Given the description of an element on the screen output the (x, y) to click on. 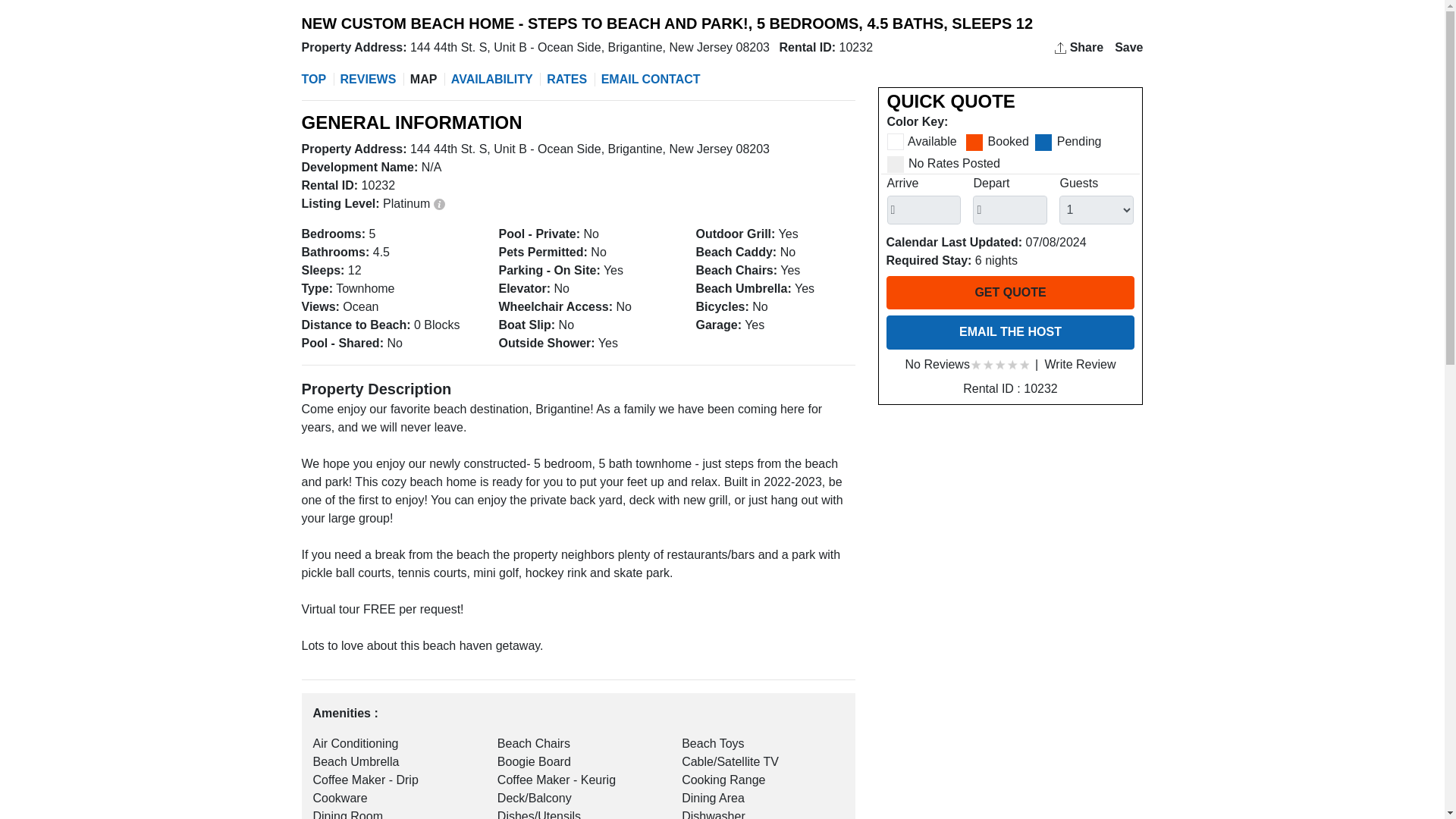
EMAIL THE HOST (1009, 331)
GET QUOTE (1009, 292)
RATES (565, 78)
AVAILABILITY (490, 78)
share (1059, 48)
Add to Wish List (1126, 47)
REVIEWS (366, 78)
Save (1126, 47)
MAP (422, 78)
Write Review (1080, 364)
EMAIL CONTACT (649, 79)
TOP (315, 78)
